Given the description of an element on the screen output the (x, y) to click on. 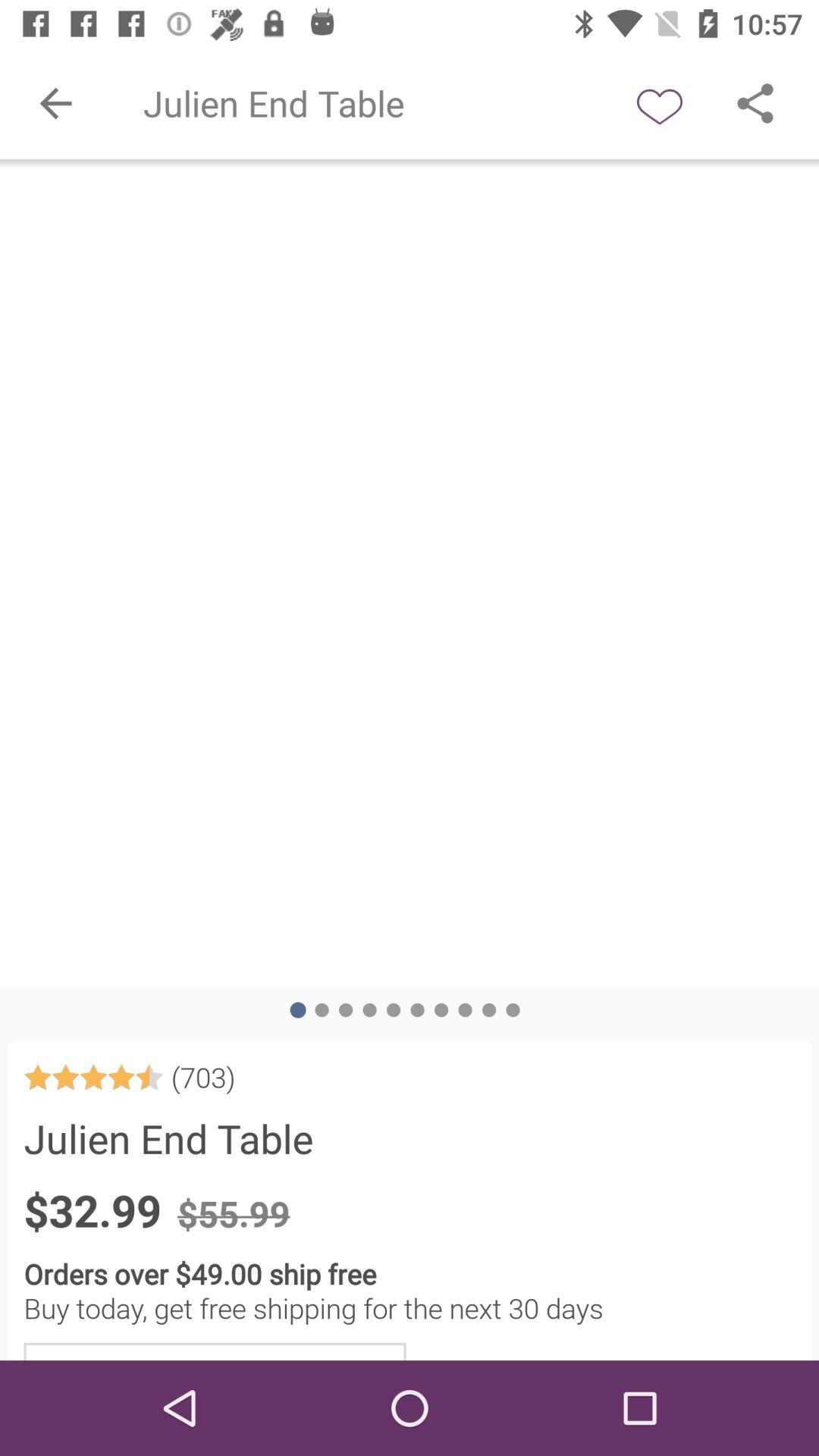
like button (659, 103)
